Given the description of an element on the screen output the (x, y) to click on. 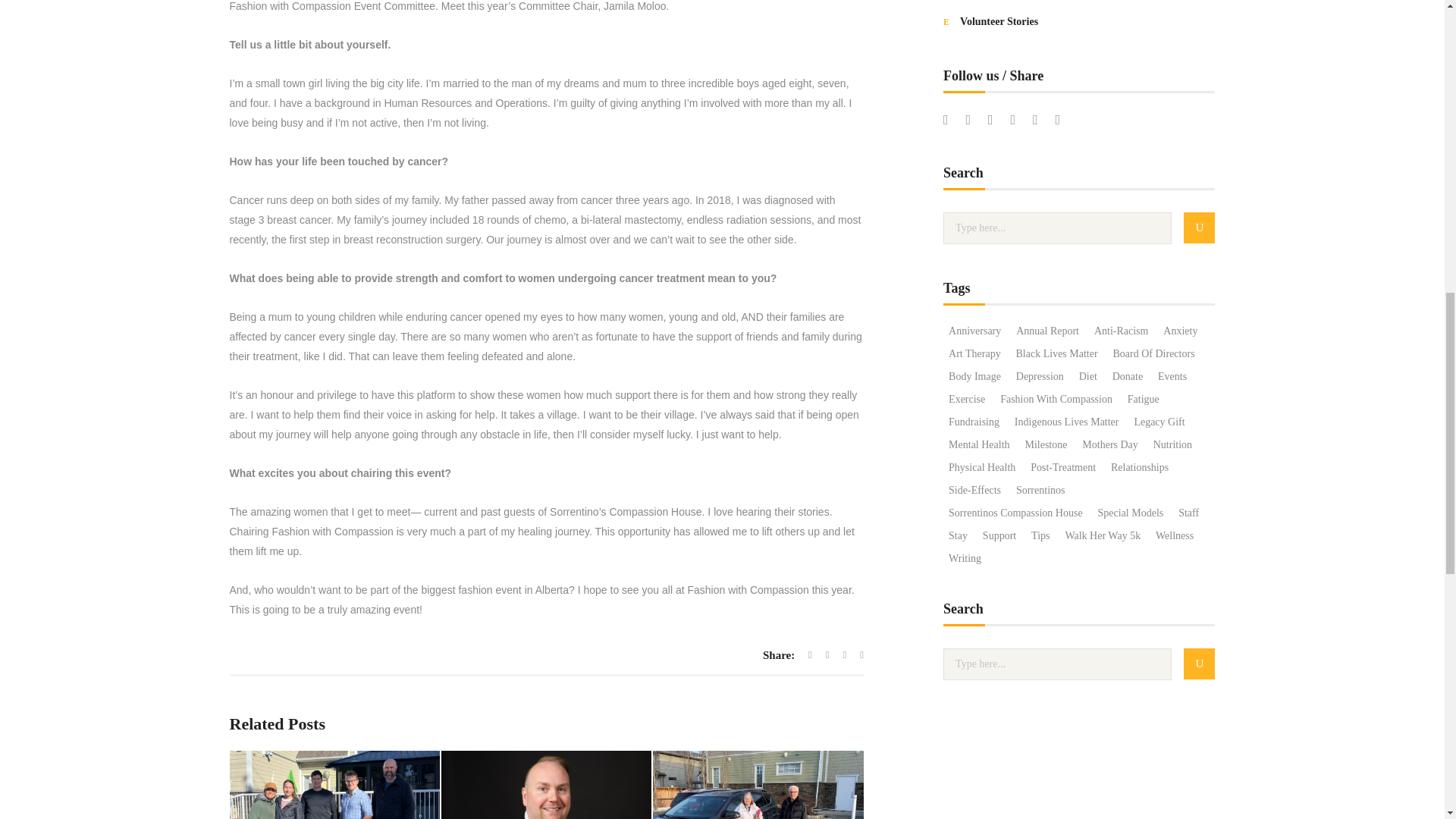
U (1198, 227)
U (1198, 663)
